Given the description of an element on the screen output the (x, y) to click on. 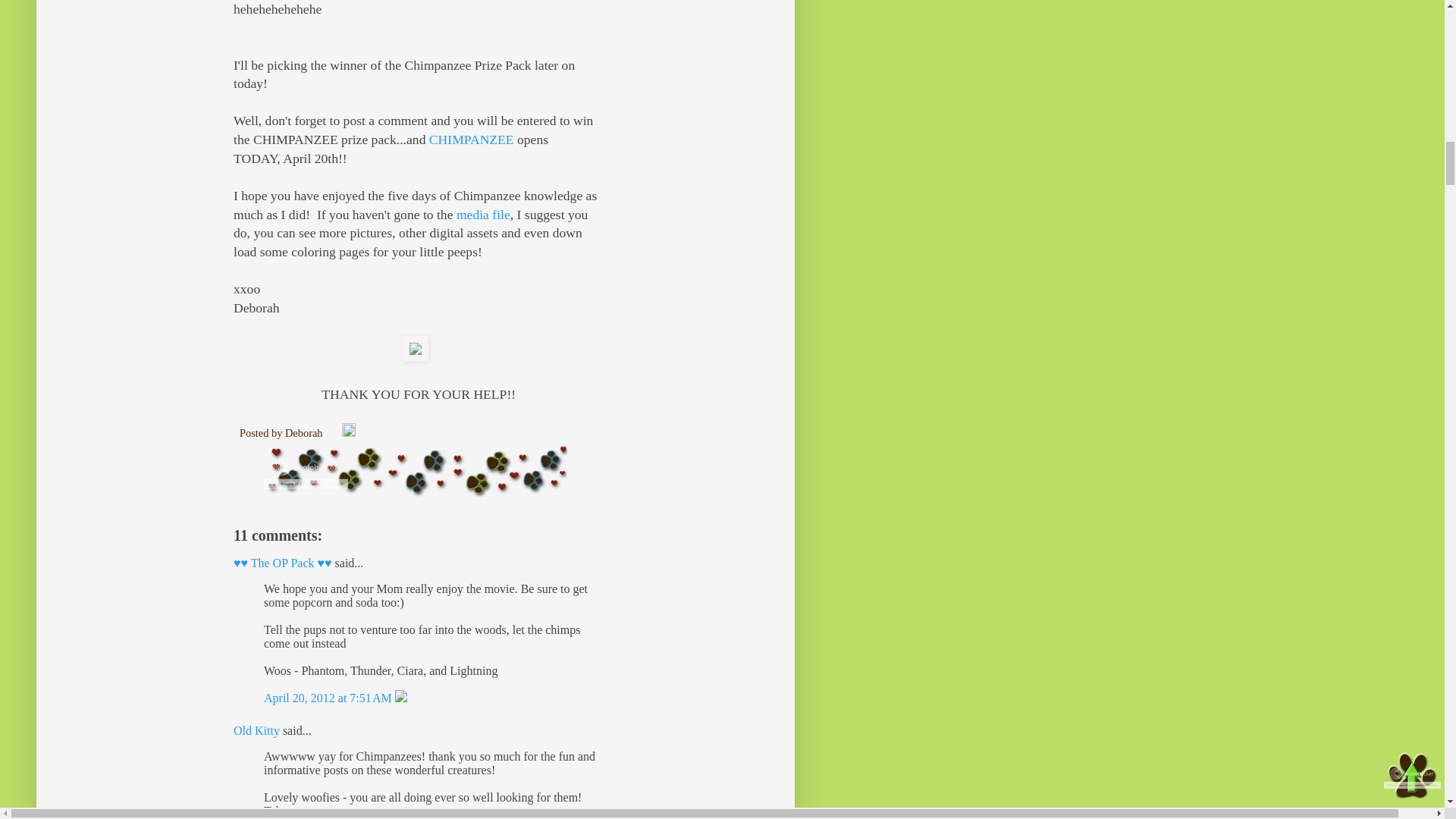
Email Post (333, 432)
Delete Comment (400, 697)
CHIMPANZEE (471, 139)
Old Kitty (255, 730)
comment permalink (328, 697)
media file (484, 214)
Edit Post (348, 432)
